Given the description of an element on the screen output the (x, y) to click on. 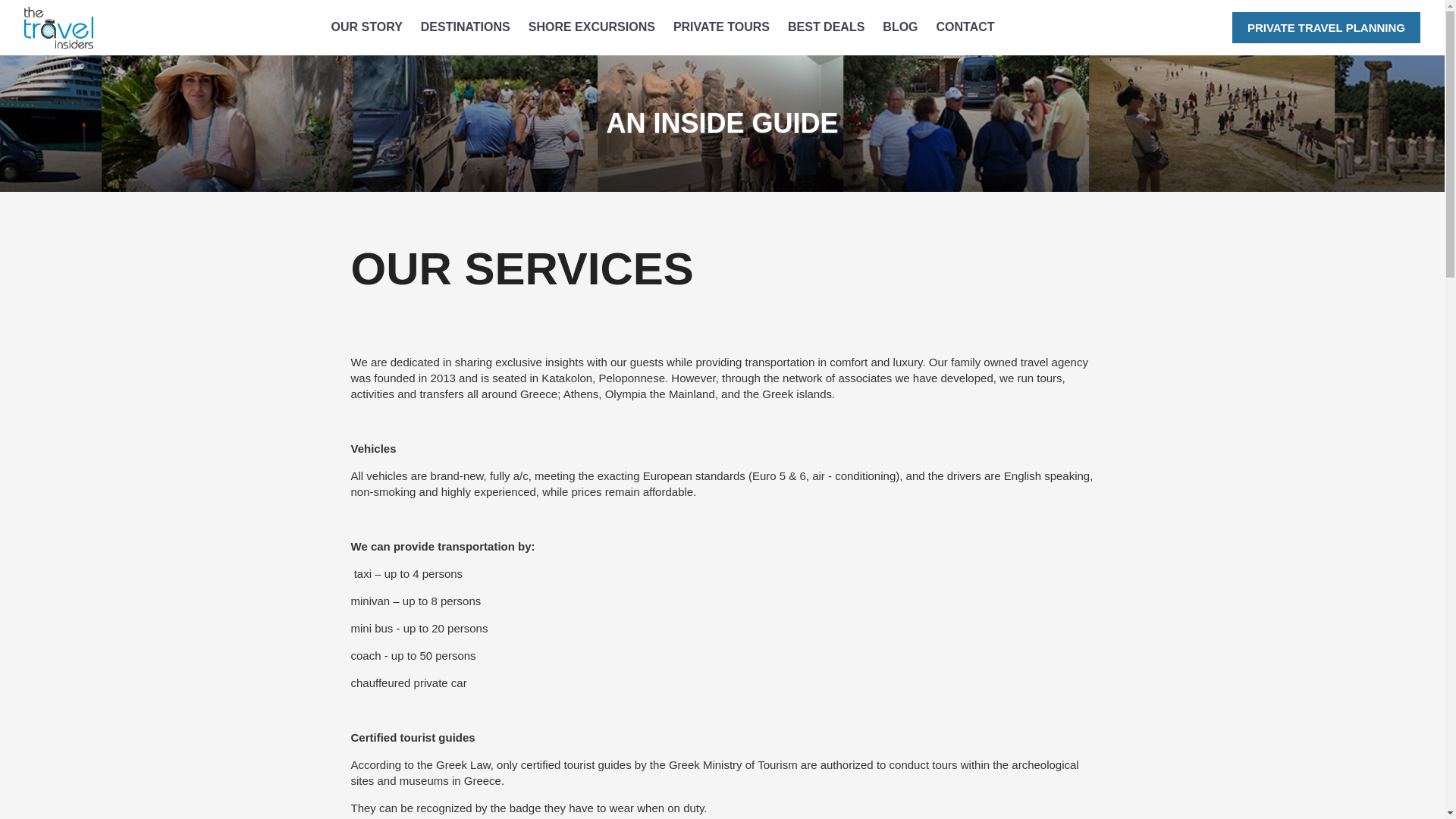
BEST DEALS (825, 27)
BLOG (899, 27)
PRIVATE TOURS (721, 27)
Contact (965, 27)
PRIVATE TRAVEL PLANNING (1326, 27)
The travel insiders (58, 27)
Best deals (825, 27)
SHORE EXCURSIONS (591, 27)
Blog (899, 27)
Our Story (366, 27)
